Given the description of an element on the screen output the (x, y) to click on. 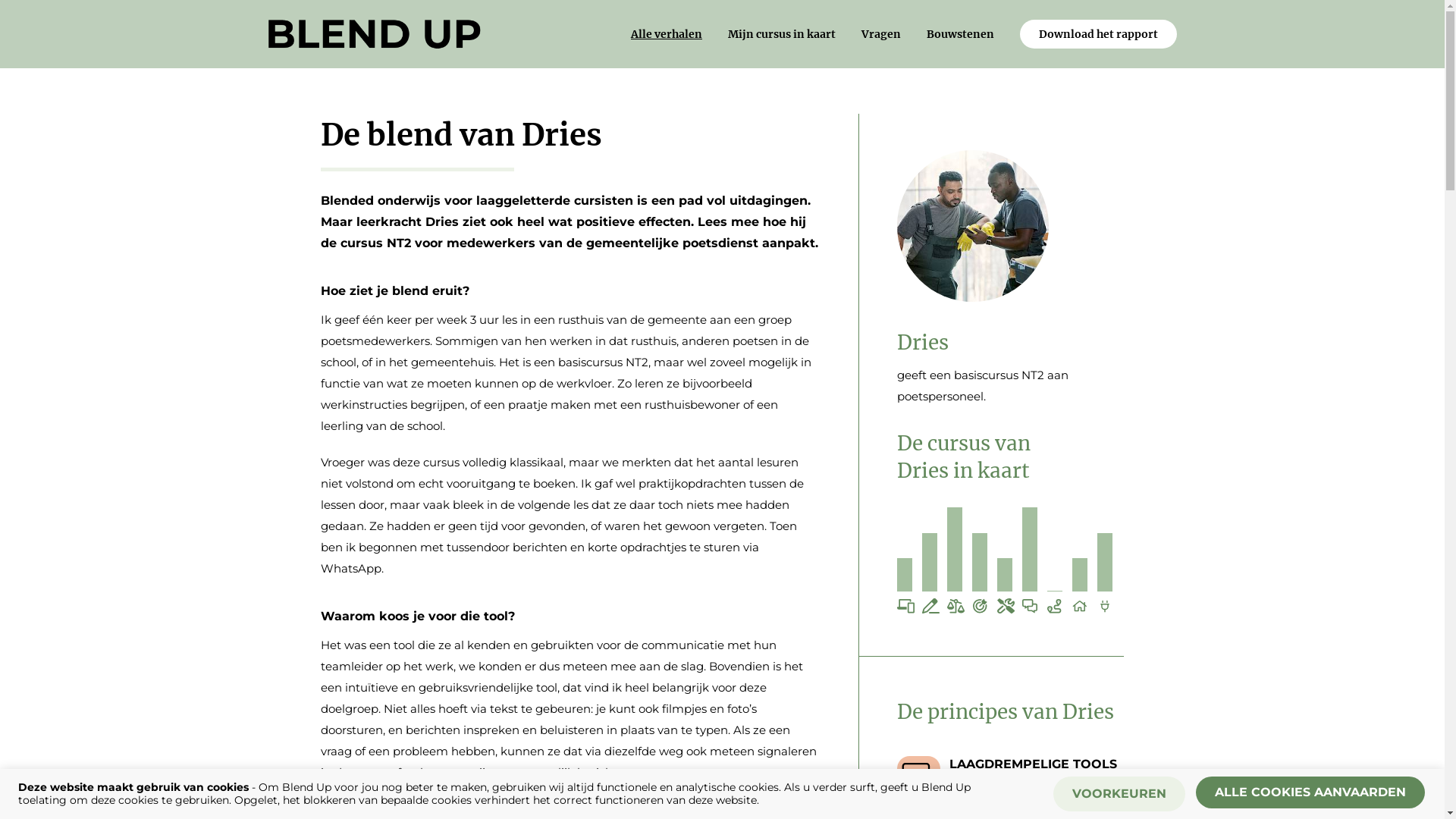
Vragen Element type: text (880, 33)
Mijn cursus in kaart Element type: text (781, 33)
Alle verhalen Element type: text (666, 33)
Download het rapport Element type: text (1097, 33)
Bouwstenen Element type: text (960, 33)
